Given the description of an element on the screen output the (x, y) to click on. 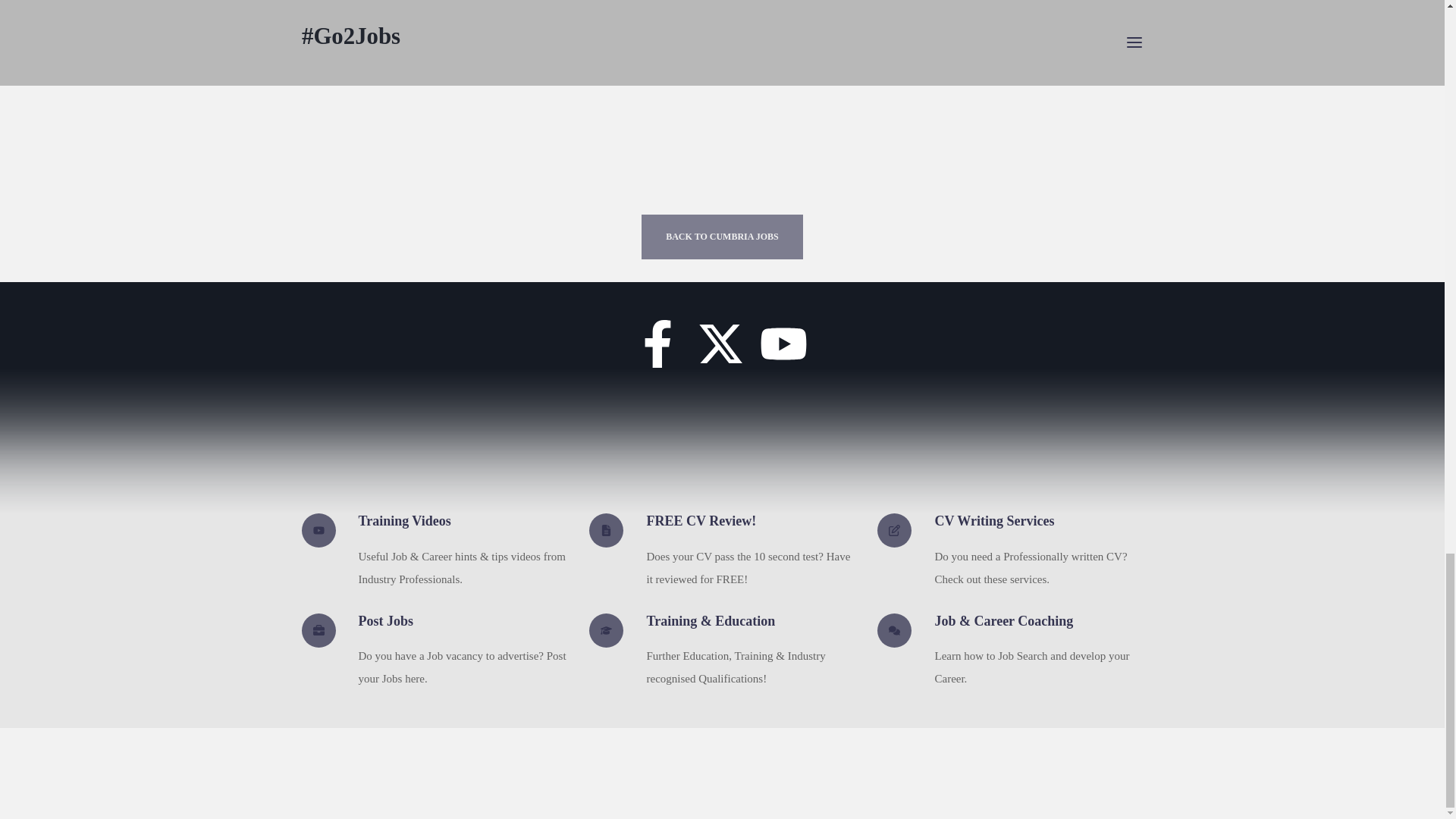
Back to Cumbria Jobs UK (722, 236)
Jobs in Workington (721, 66)
Jobs in Workington (722, 28)
Workington Jobs on Facebook (657, 351)
